Given the description of an element on the screen output the (x, y) to click on. 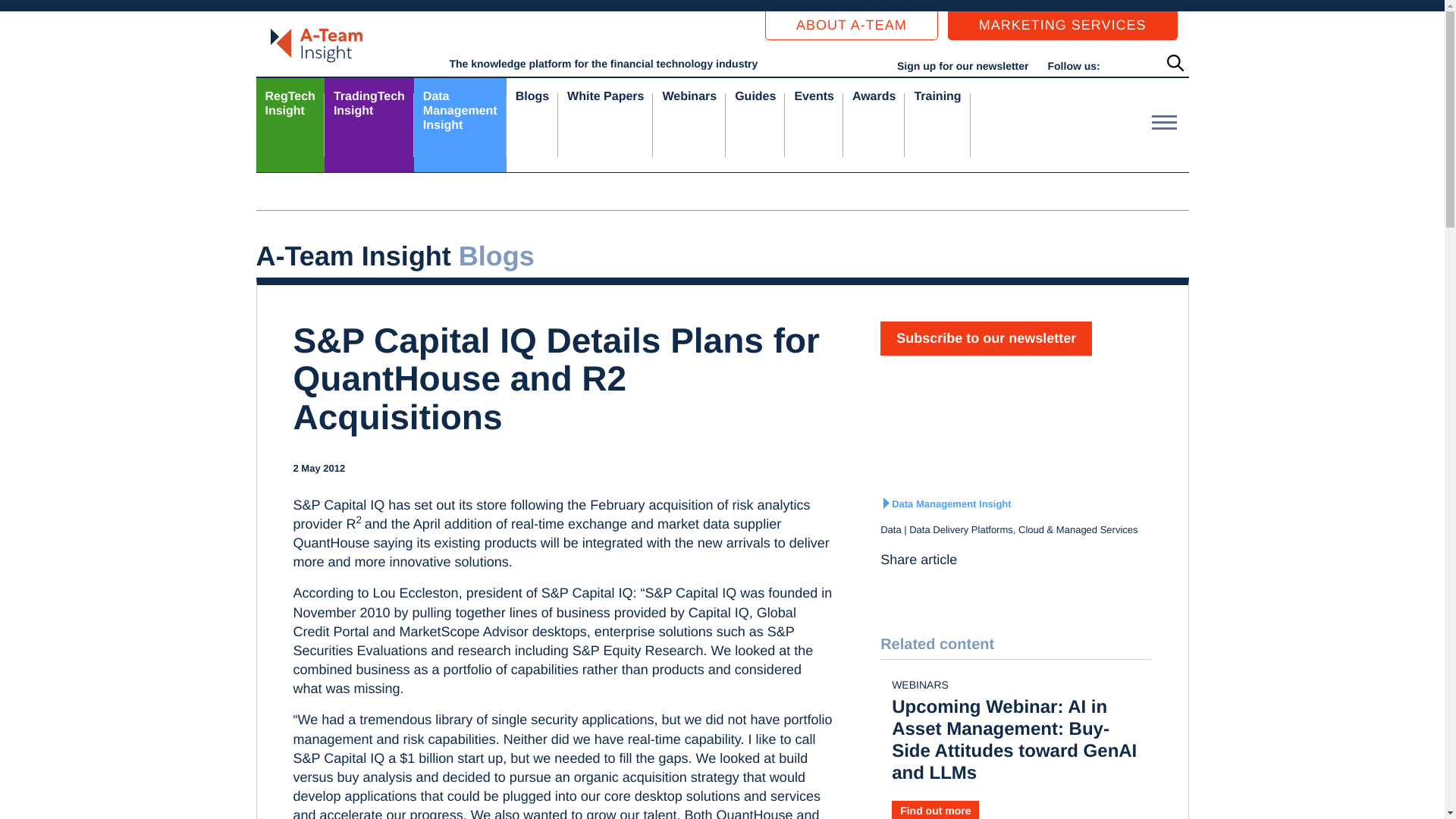
Email (964, 586)
MARKETING SERVICES (1062, 25)
X (916, 586)
LinkedIn (892, 586)
Sign up for our newsletter (459, 124)
Facebook (961, 65)
ABOUT A-TEAM (368, 124)
